Given the description of an element on the screen output the (x, y) to click on. 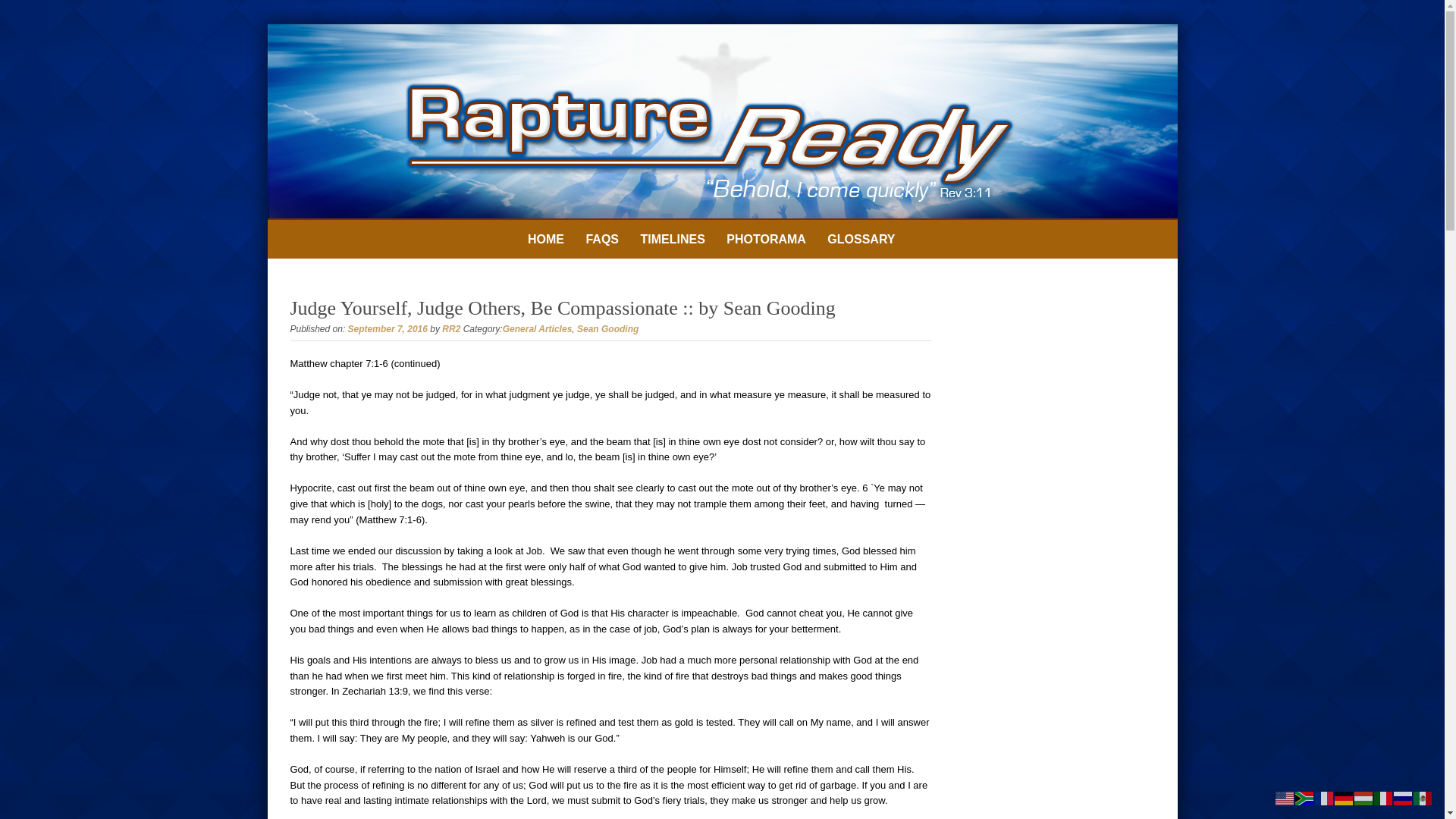
FAQS (601, 239)
TIMELINES (671, 239)
PHOTORAMA (766, 239)
September 7, 2016 (387, 328)
General Articles (537, 328)
HOME (545, 239)
Sean Gooding (607, 328)
GLOSSARY (861, 239)
RR2 (451, 328)
